Given the description of an element on the screen output the (x, y) to click on. 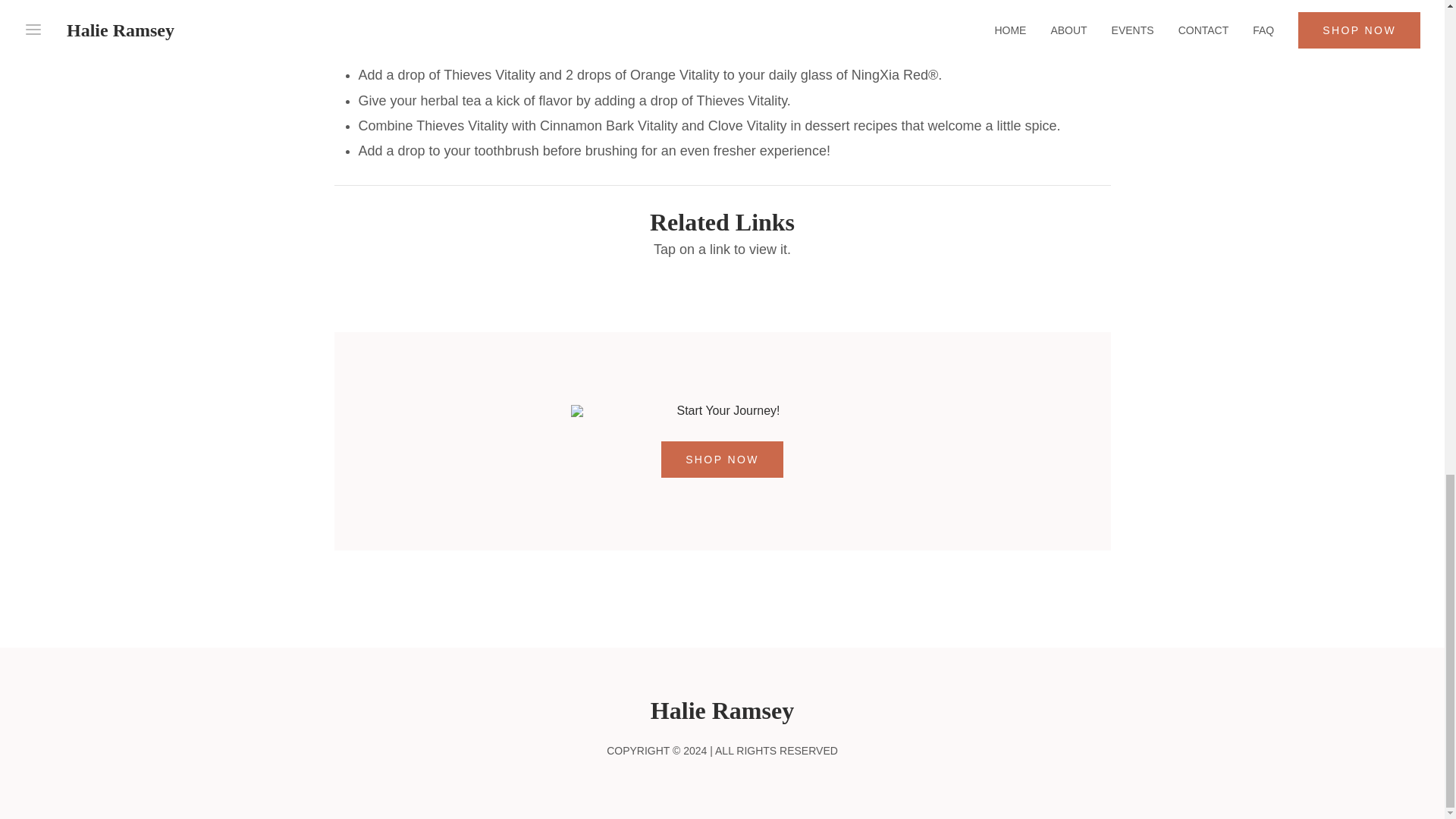
SHOP NOW (722, 459)
